Given the description of an element on the screen output the (x, y) to click on. 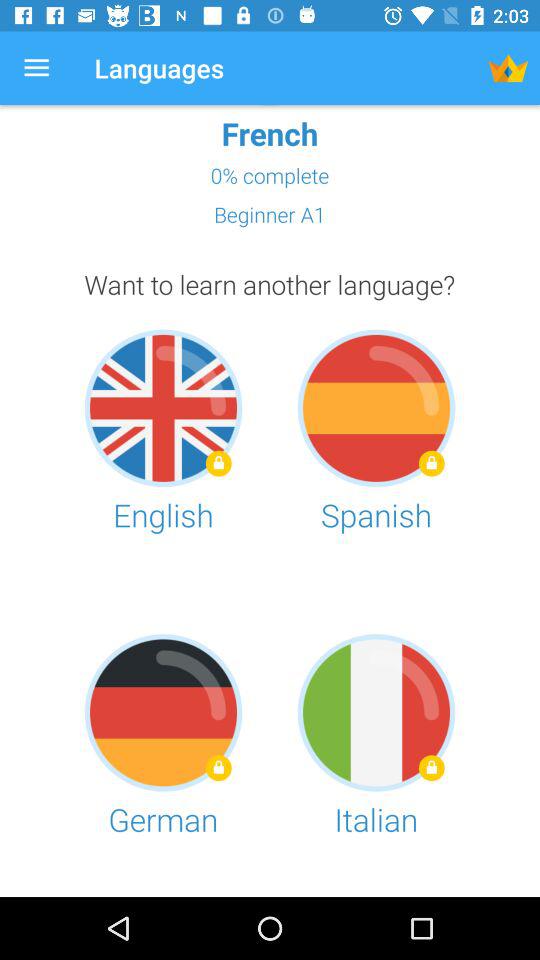
open item next to the languages item (36, 68)
